Given the description of an element on the screen output the (x, y) to click on. 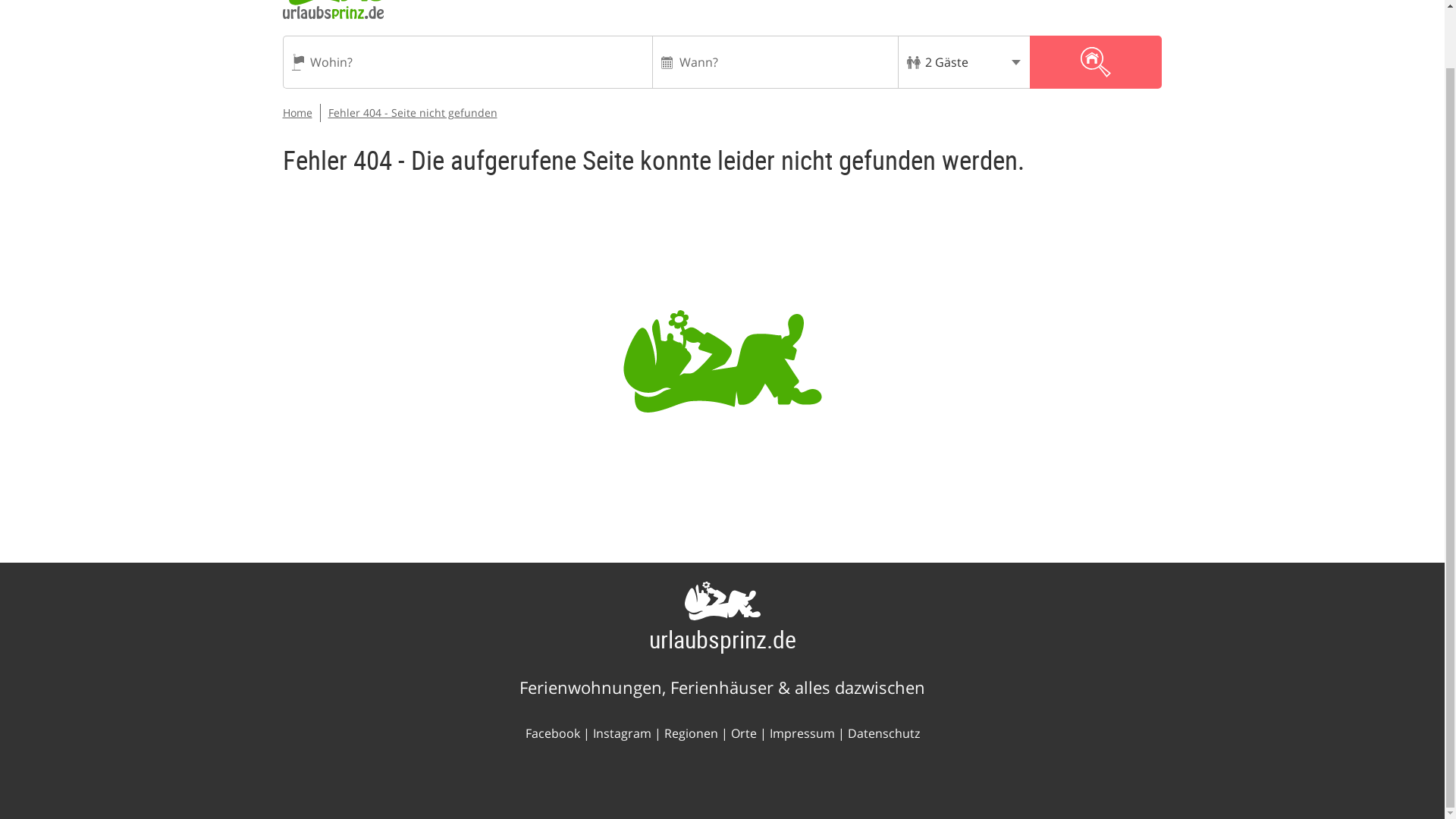
Home (296, 112)
Ferienregionen in Deutschland (690, 733)
Ferienorte in Deutschland (743, 733)
Instagram (621, 733)
urlaubsprinz.de bei Facebook (551, 733)
Orte (743, 733)
Regionen (690, 733)
Datenschutz (883, 733)
Fehler 404 - Seite nicht gefunden (411, 112)
